Given the description of an element on the screen output the (x, y) to click on. 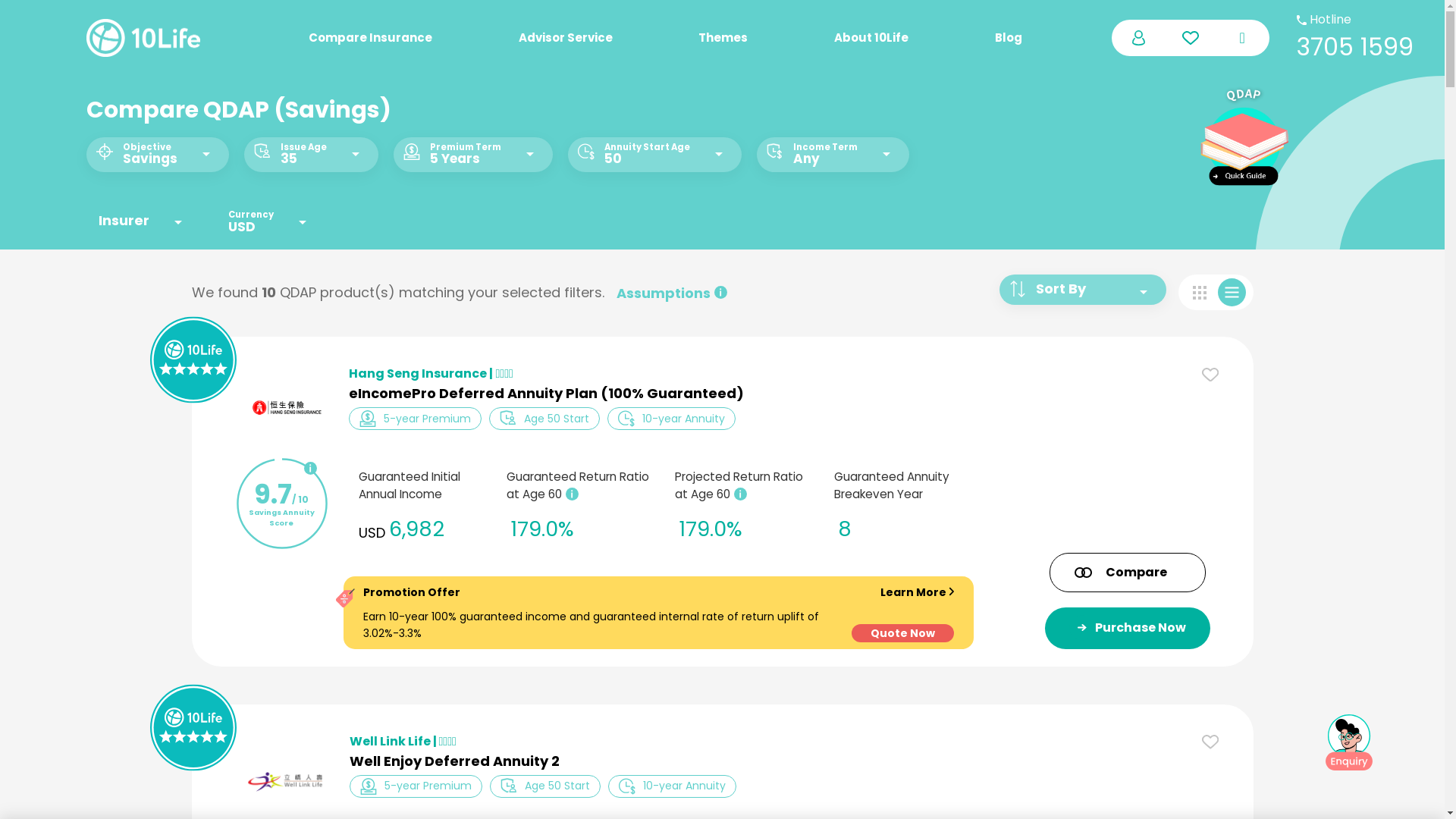
Advisor Service Element type: text (596, 38)
Learn More Element type: text (916, 591)
Blog Element type: text (1039, 38)
Themes Element type: text (754, 38)
About 10Life Element type: text (902, 38)
Quote Now Element type: text (902, 633)
Purchase Now Element type: text (1127, 628)
3705 1599 Element type: text (1354, 46)
Compare Element type: text (1127, 572)
Compare Insurance Element type: text (401, 38)
